Given the description of an element on the screen output the (x, y) to click on. 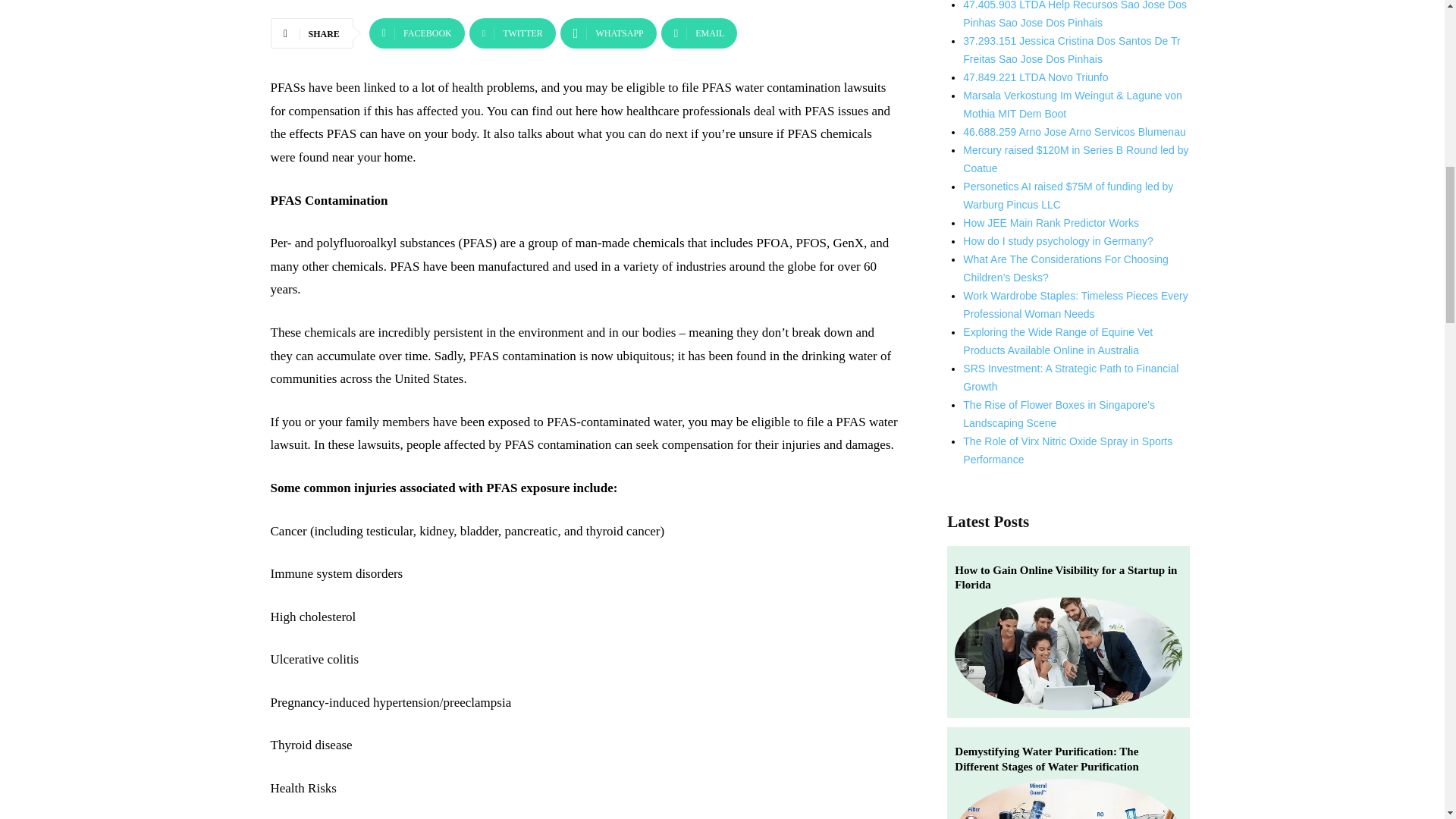
Facebook (416, 33)
Twitter (512, 33)
Email (698, 33)
WhatsApp (608, 33)
FACEBOOK (416, 33)
